Given the description of an element on the screen output the (x, y) to click on. 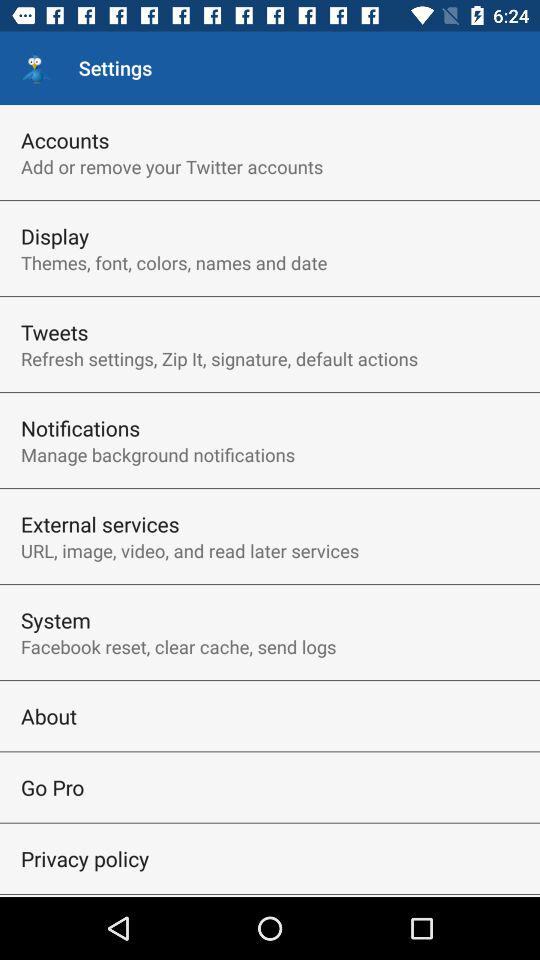
turn off add or remove item (172, 166)
